Given the description of an element on the screen output the (x, y) to click on. 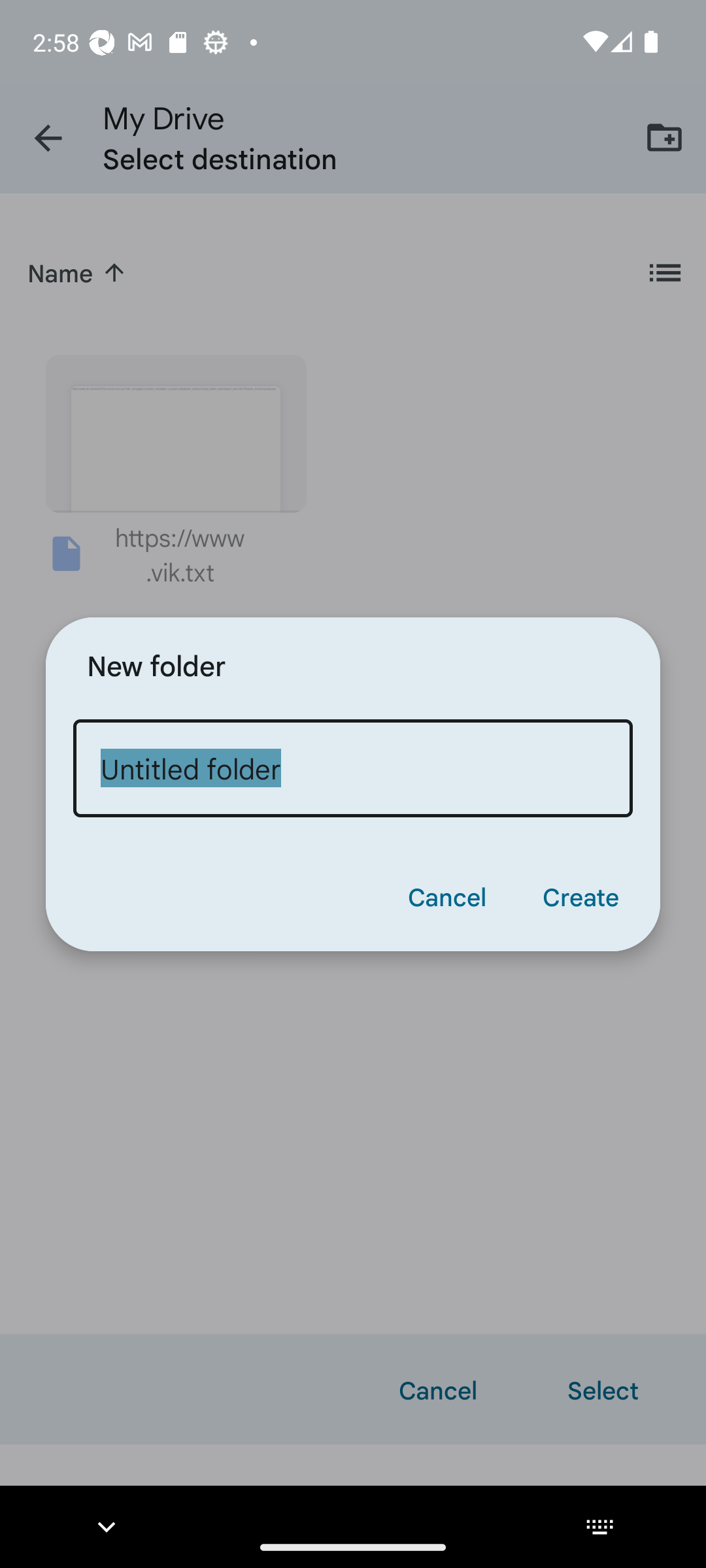
Untitled folder (352, 767)
Cancel (446, 895)
Create (580, 895)
